Given the description of an element on the screen output the (x, y) to click on. 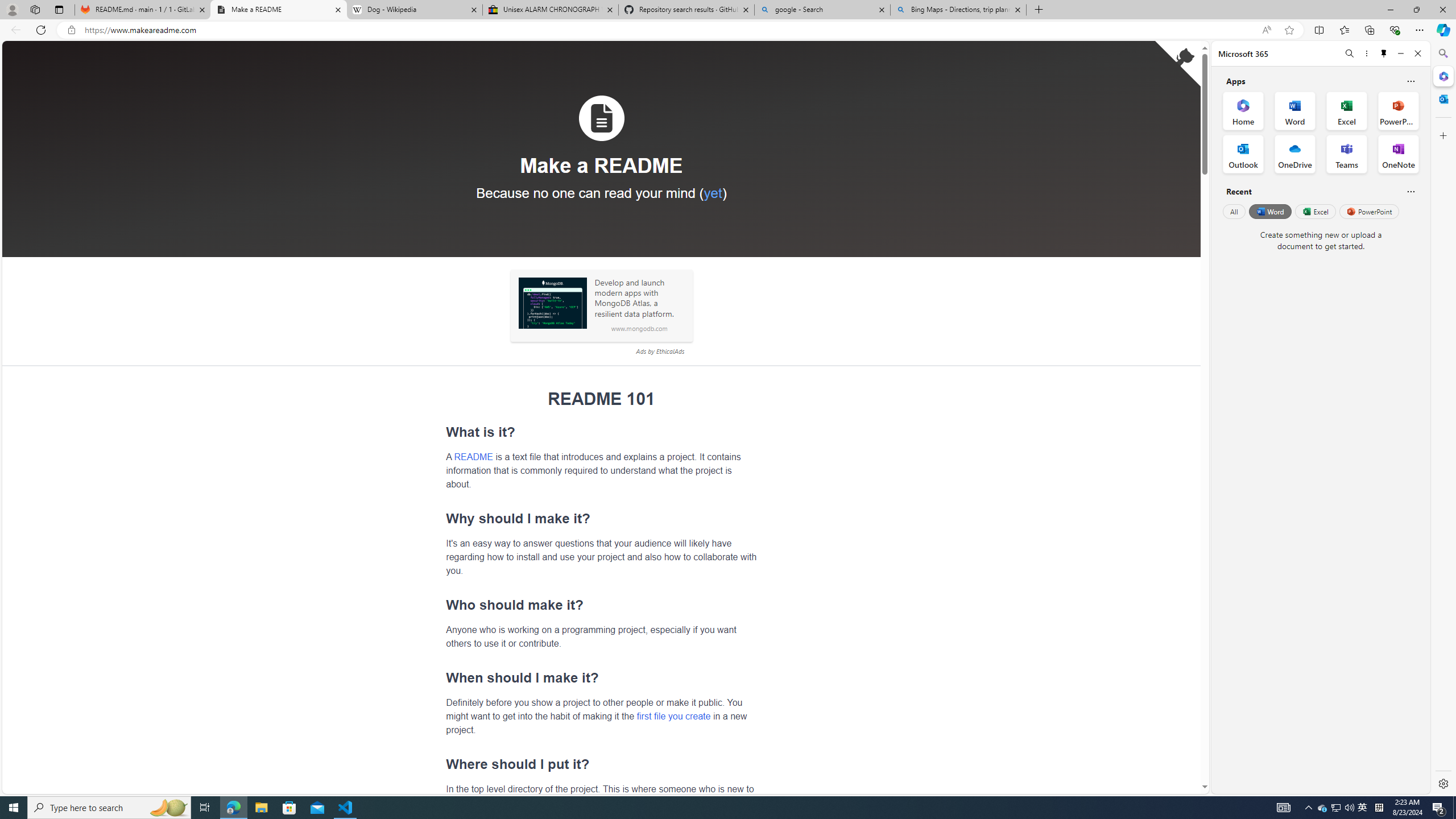
Ads by EthicalAds (660, 351)
OneNote Office App (1398, 154)
yet (712, 192)
